Given the description of an element on the screen output the (x, y) to click on. 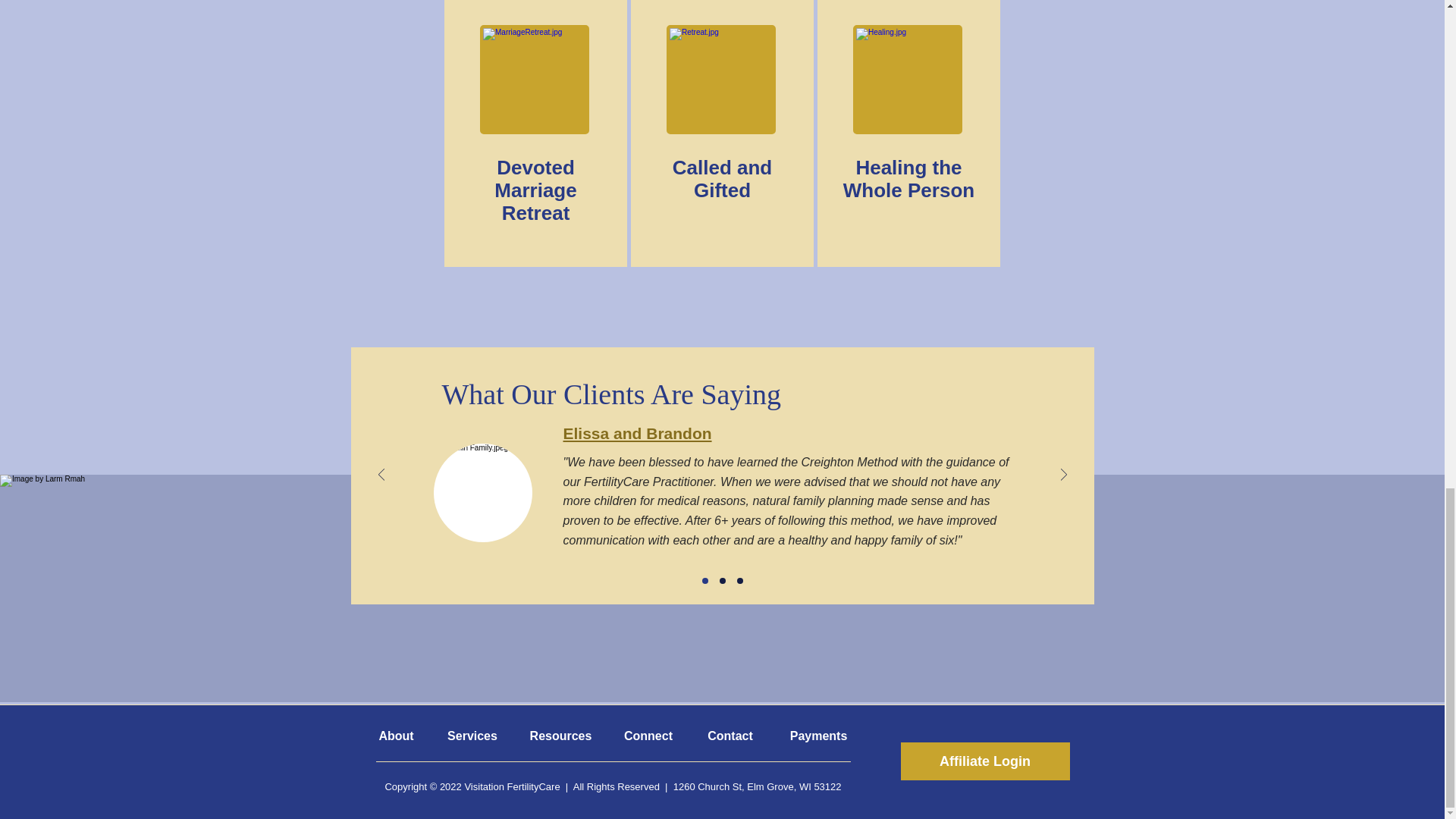
Called and Gifted (721, 179)
Ashwood.jpg (721, 79)
Devoted Marriage Retreat (535, 190)
Healing the Whole Person (908, 179)
Ashwood.jpg (907, 79)
Ashwood.jpg (534, 79)
